Given the description of an element on the screen output the (x, y) to click on. 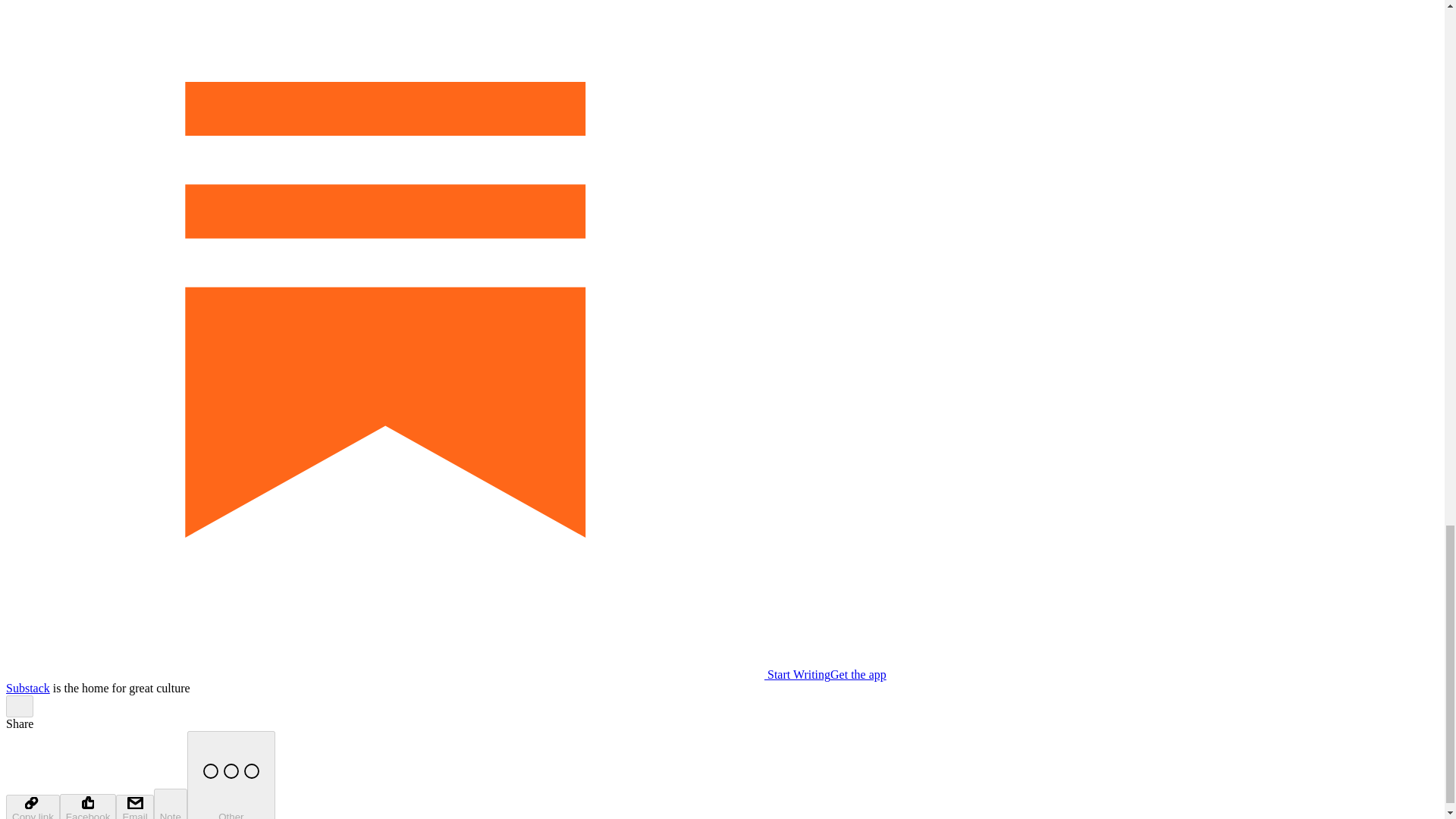
Start Writing (417, 674)
